Given the description of an element on the screen output the (x, y) to click on. 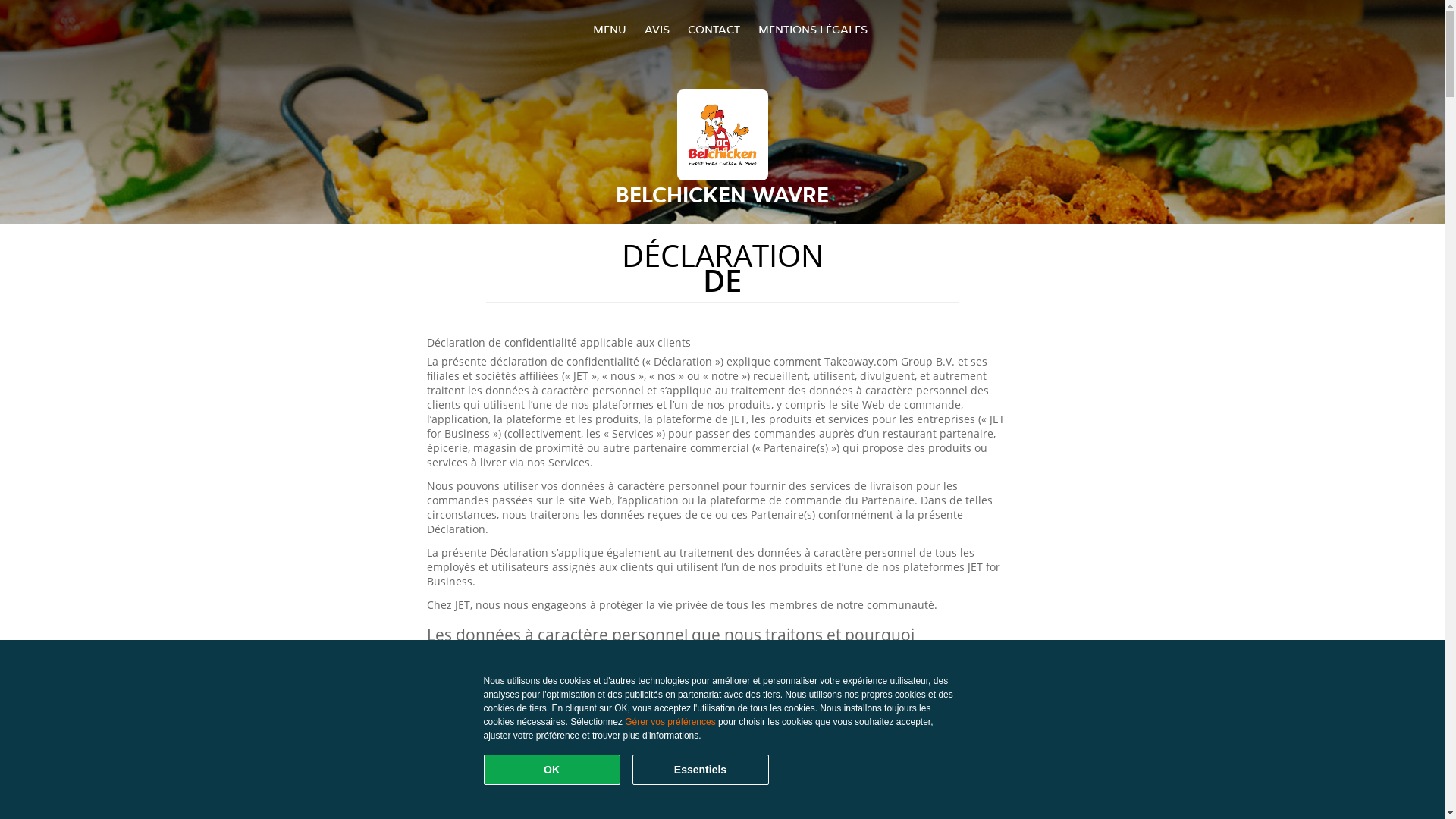
Essentiels Element type: text (700, 769)
AVIS Element type: text (656, 29)
MENU Element type: text (609, 29)
CONTACT Element type: text (713, 29)
OK Element type: text (551, 769)
